Given the description of an element on the screen output the (x, y) to click on. 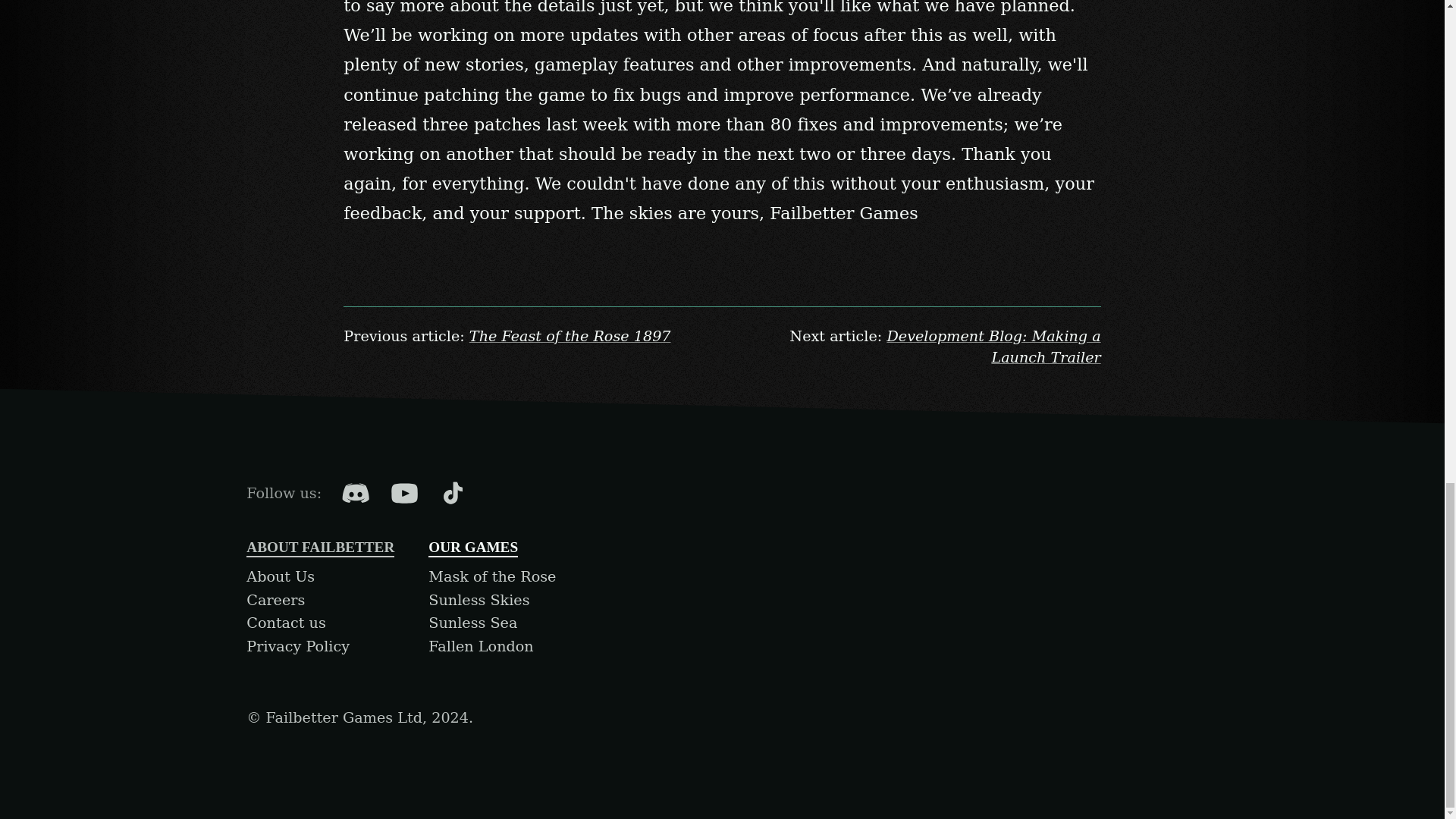
The Feast of the Rose 1897 (569, 335)
Privacy Policy (297, 646)
Careers (275, 600)
Sunless Sea (472, 622)
Follow us: (283, 493)
Mask of the Rose (492, 576)
Development Blog: Making a Launch Trailer (993, 346)
Fallen London (480, 646)
About Us (280, 576)
Sunless Skies (478, 600)
